Given the description of an element on the screen output the (x, y) to click on. 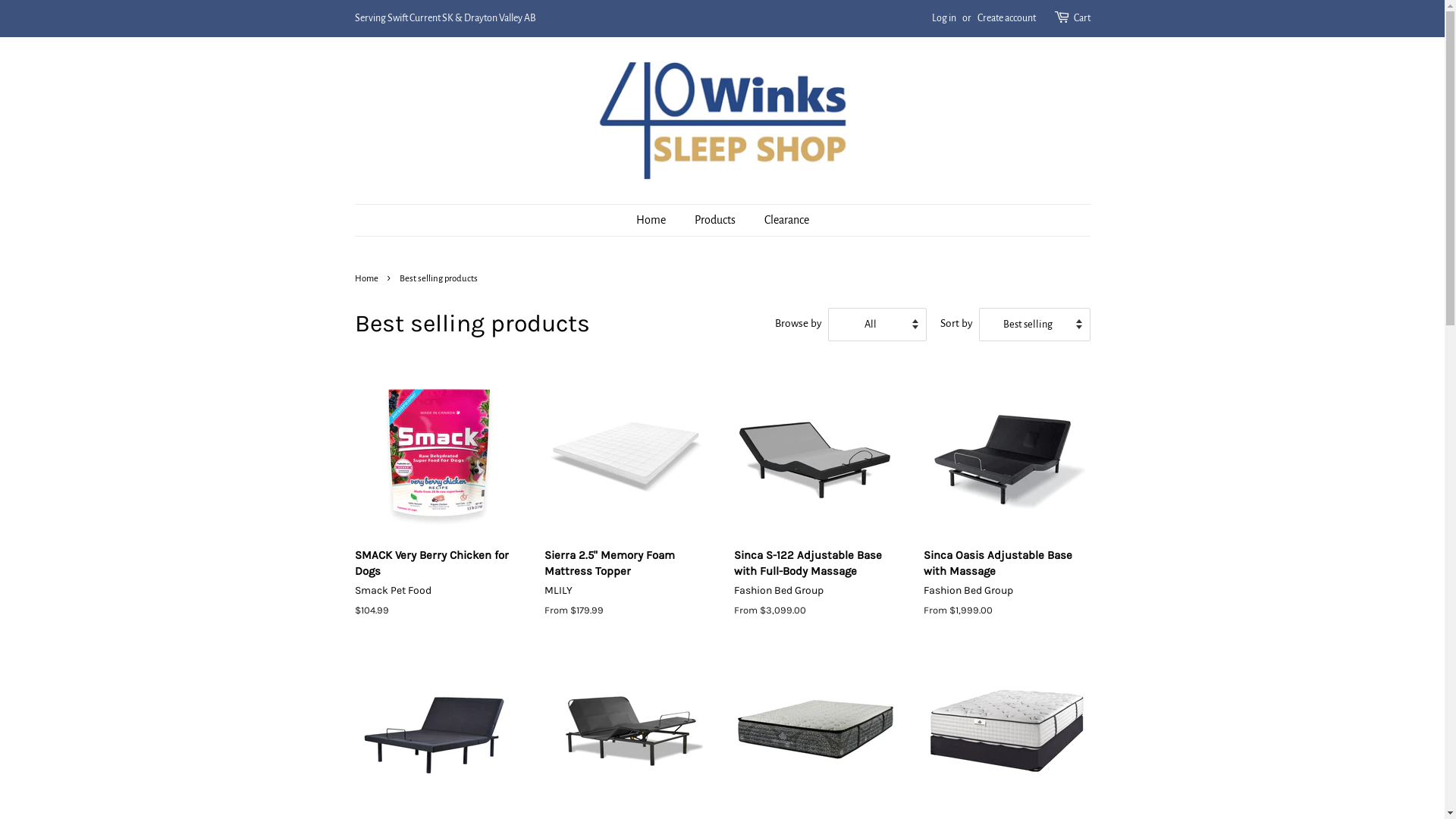
Clearance Element type: text (780, 219)
Home Element type: text (657, 219)
Home Element type: text (368, 278)
Cart Element type: text (1081, 18)
Create account Element type: text (1005, 17)
Products Element type: text (715, 219)
Sierra 2.5" Memory Foam Mattress Topper
MLILY
From $179.99 Element type: text (627, 508)
Log in Element type: text (943, 17)
